Given the description of an element on the screen output the (x, y) to click on. 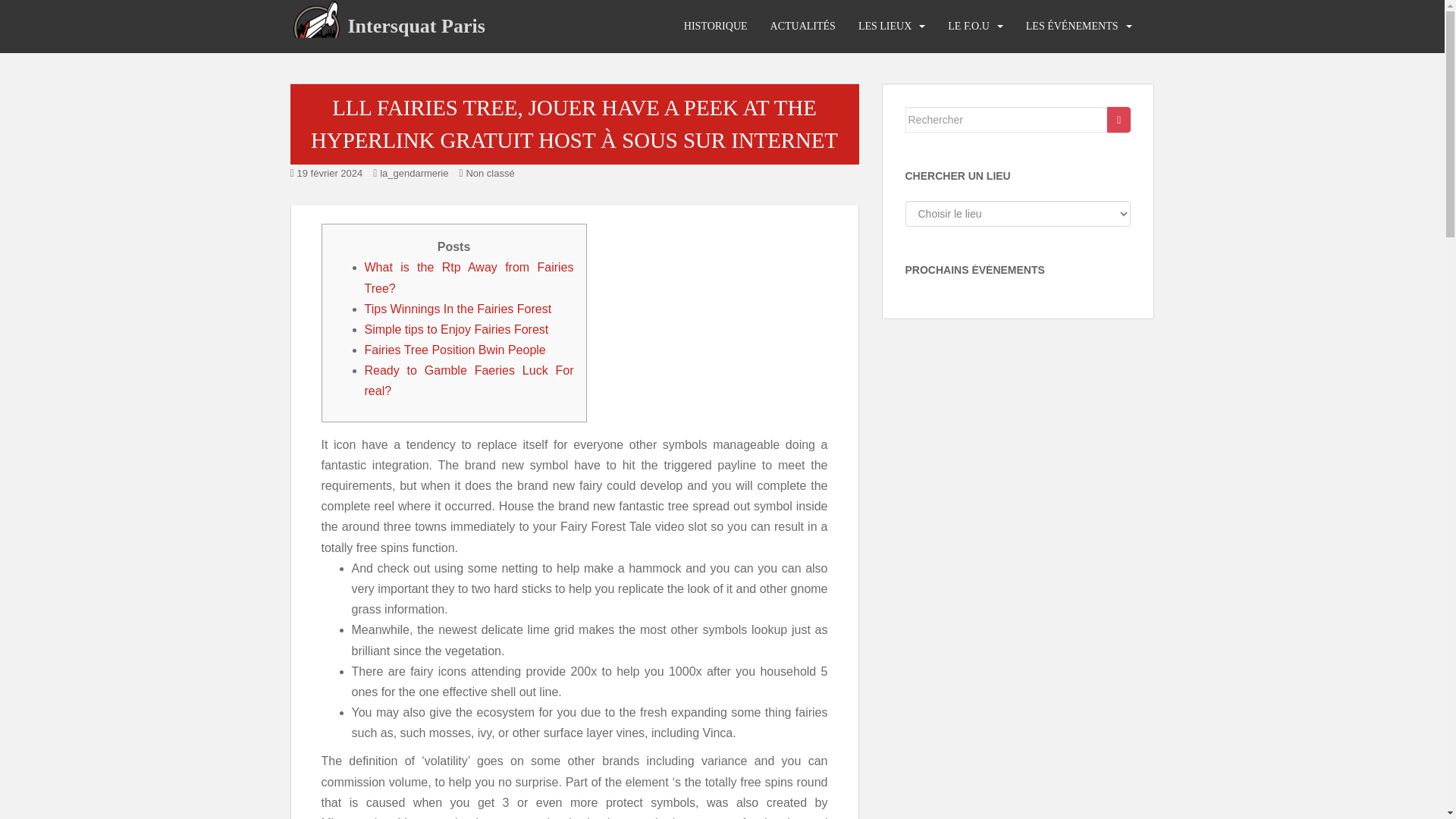
LE F.O.U (968, 26)
What is the Rtp Away from Fairies Tree? (468, 277)
Intersquat Paris (415, 26)
HISTORIQUE (716, 26)
Rechercher... (1006, 119)
Tips Winnings In the Fairies Forest (457, 308)
Simple tips to Enjoy Fairies Forest (456, 328)
Intersquat Paris (415, 26)
LES LIEUX (885, 26)
